Given the description of an element on the screen output the (x, y) to click on. 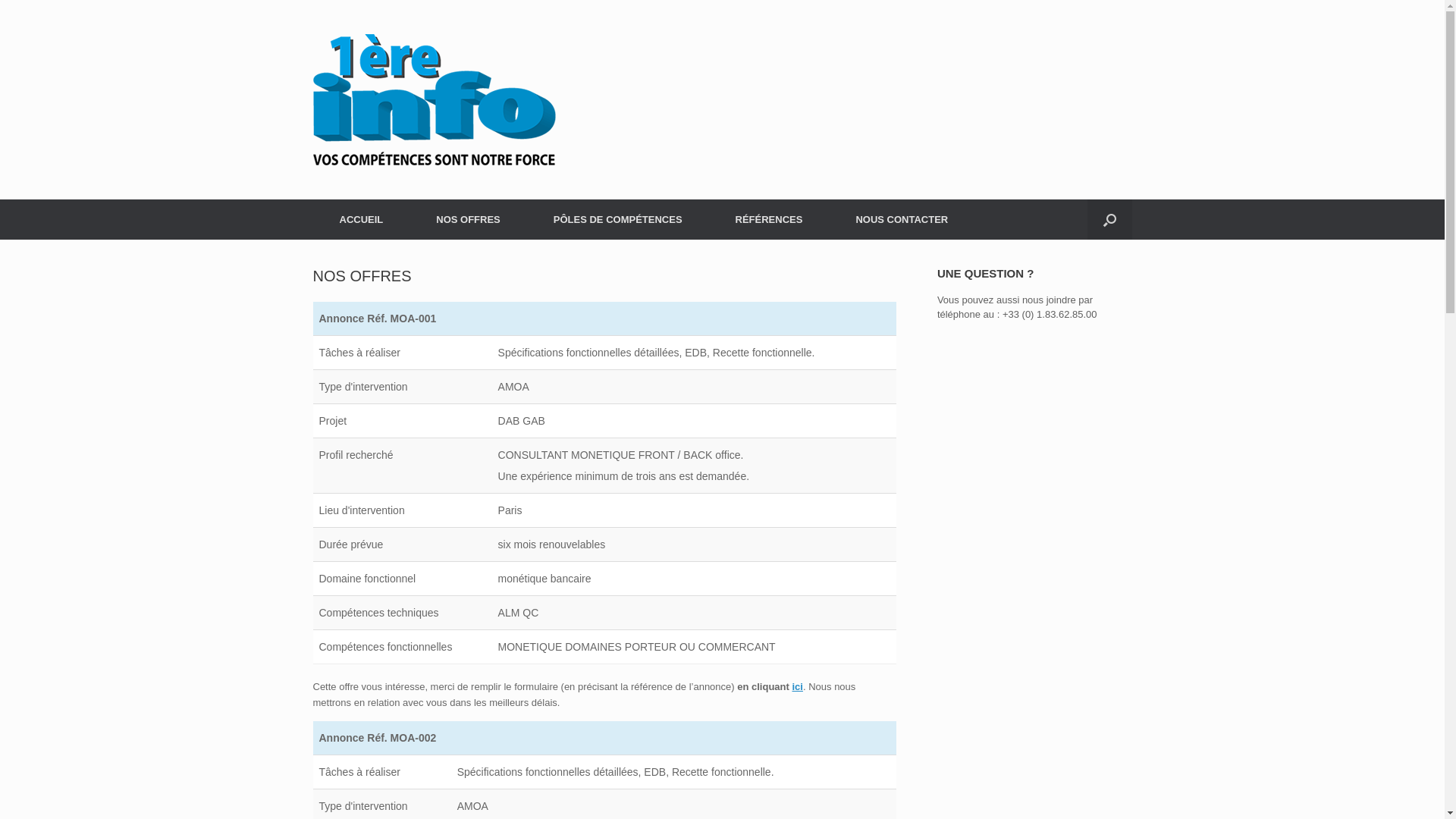
ACCUEIL Element type: text (360, 219)
NOUS CONTACTER Element type: text (901, 219)
ici Element type: text (796, 686)
1ereinfo Element type: hover (433, 99)
NOS OFFRES Element type: text (468, 219)
